Given the description of an element on the screen output the (x, y) to click on. 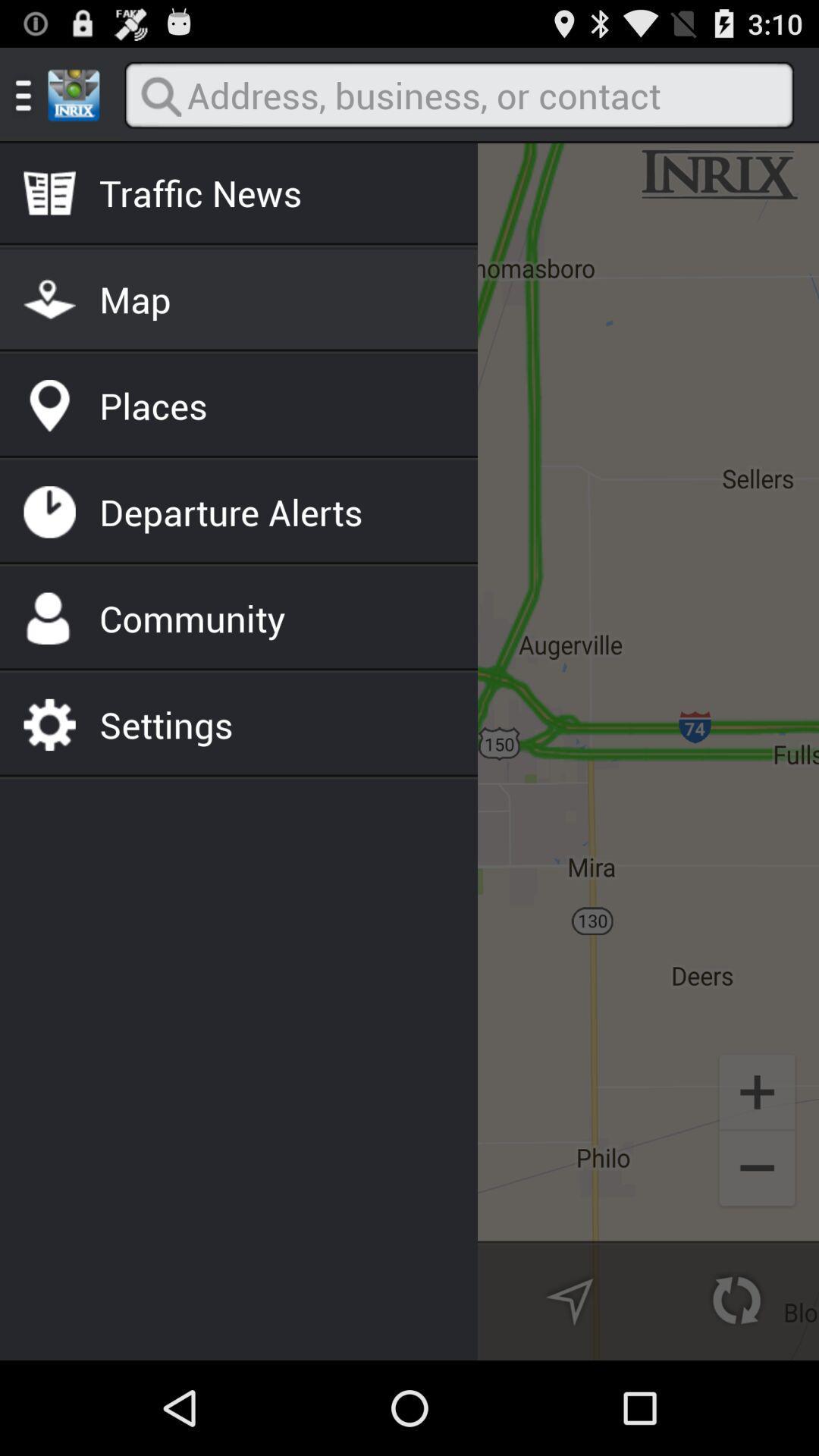
scroll until the settings (166, 724)
